Given the description of an element on the screen output the (x, y) to click on. 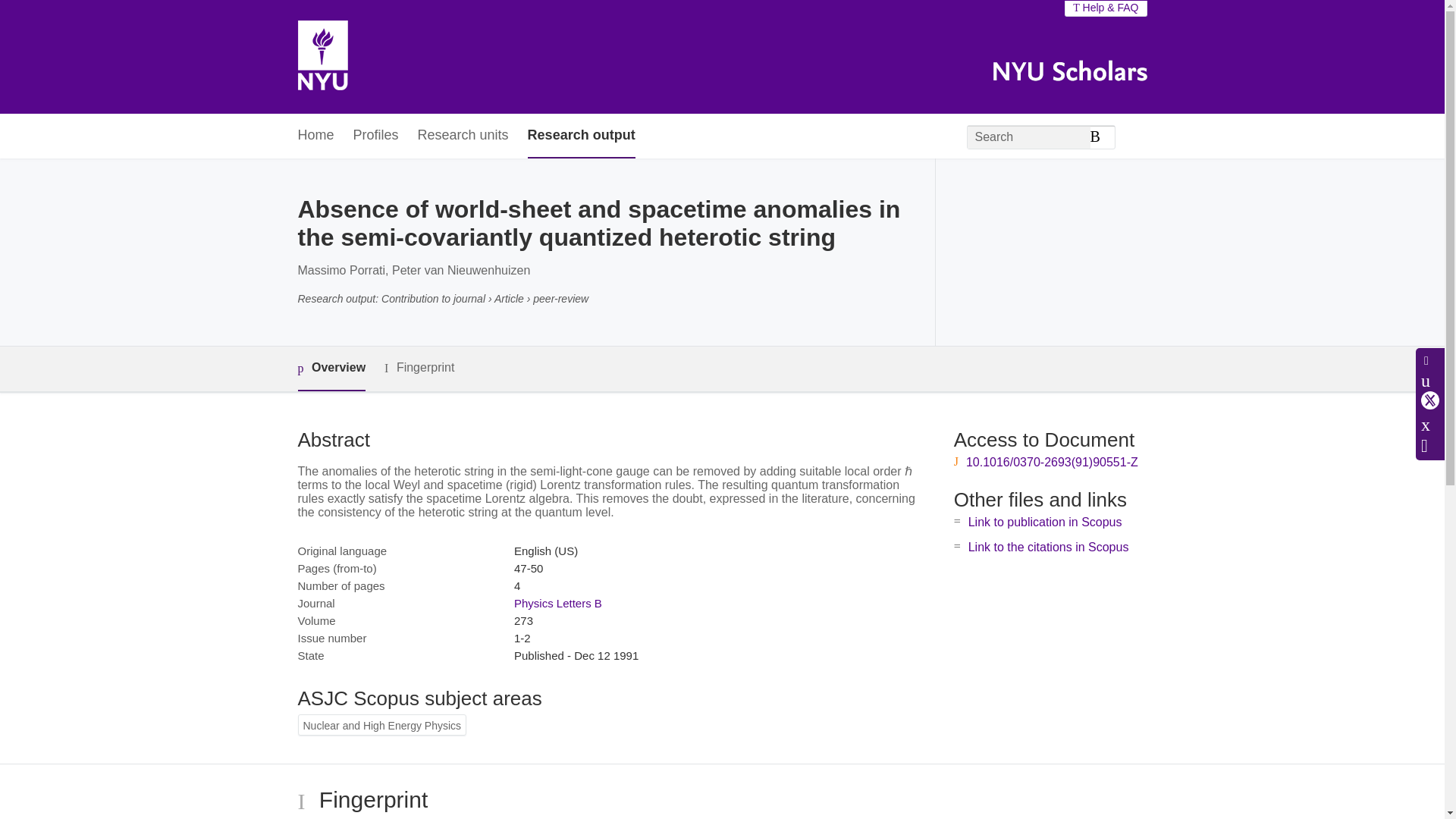
Overview (331, 368)
Profiles (375, 135)
Research units (462, 135)
Research output (580, 135)
Fingerprint (419, 367)
Link to publication in Scopus (1045, 521)
Physics Letters B (557, 603)
Link to the citations in Scopus (1048, 546)
